Given the description of an element on the screen output the (x, y) to click on. 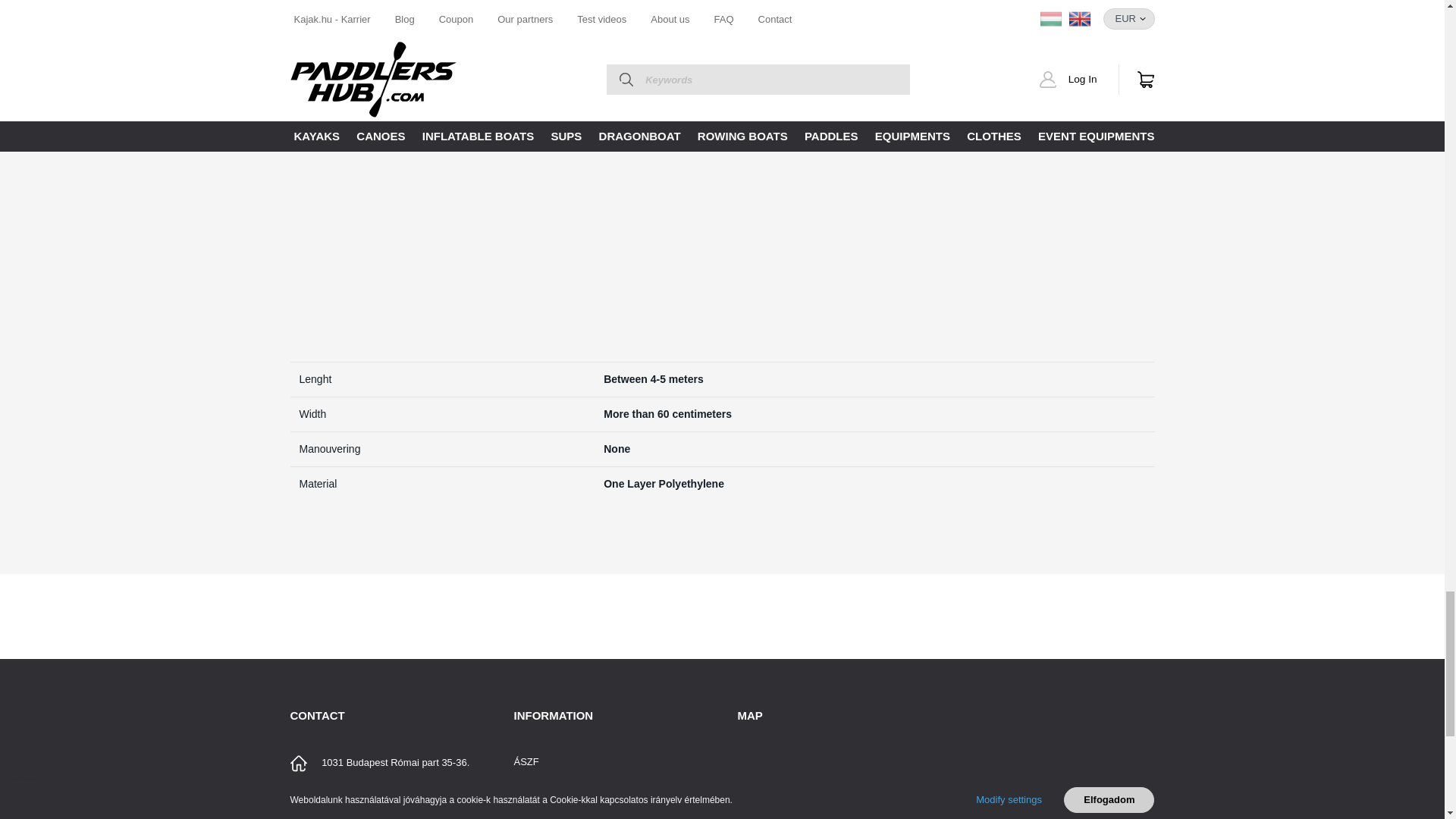
YouTube video player (926, 225)
YouTube video player (501, 225)
